Given the description of an element on the screen output the (x, y) to click on. 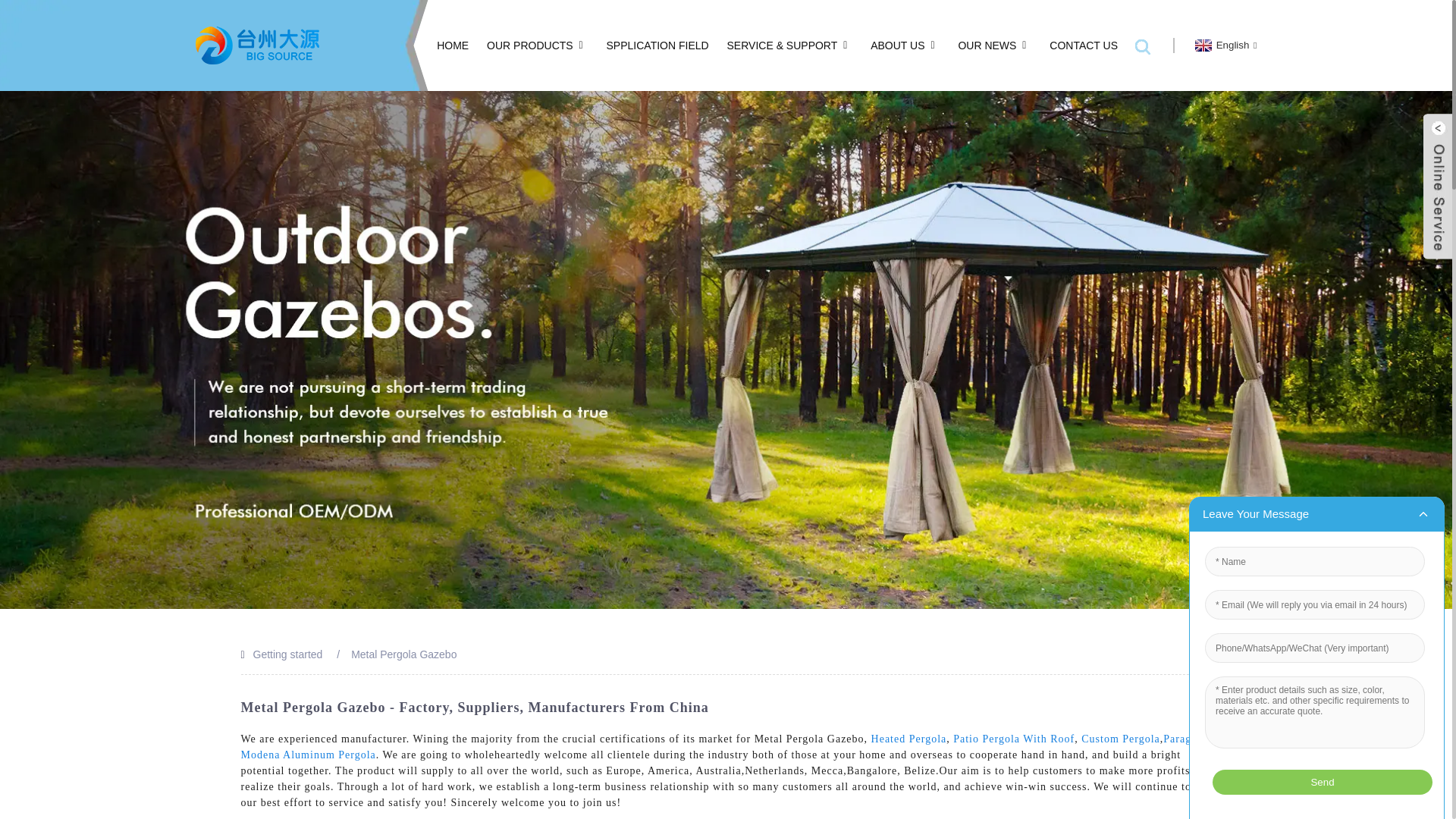
Custom Pergola (1120, 738)
Heated Pergola (908, 738)
Paragon Modena Aluminum Pergola (722, 746)
OUR NEWS (994, 45)
Metal Pergola Gazebo (403, 654)
Patio Pergola With Roof (1013, 738)
HOME (452, 45)
SPPLICATION FIELD (658, 45)
Getting started (288, 654)
OUR PRODUCTS (537, 45)
Patio Pergola With Roof (1013, 738)
Heated Pergola (908, 738)
ABOUT US (904, 45)
Paragon Modena Aluminum Pergola (722, 746)
Custom Pergola (1120, 738)
